Given the description of an element on the screen output the (x, y) to click on. 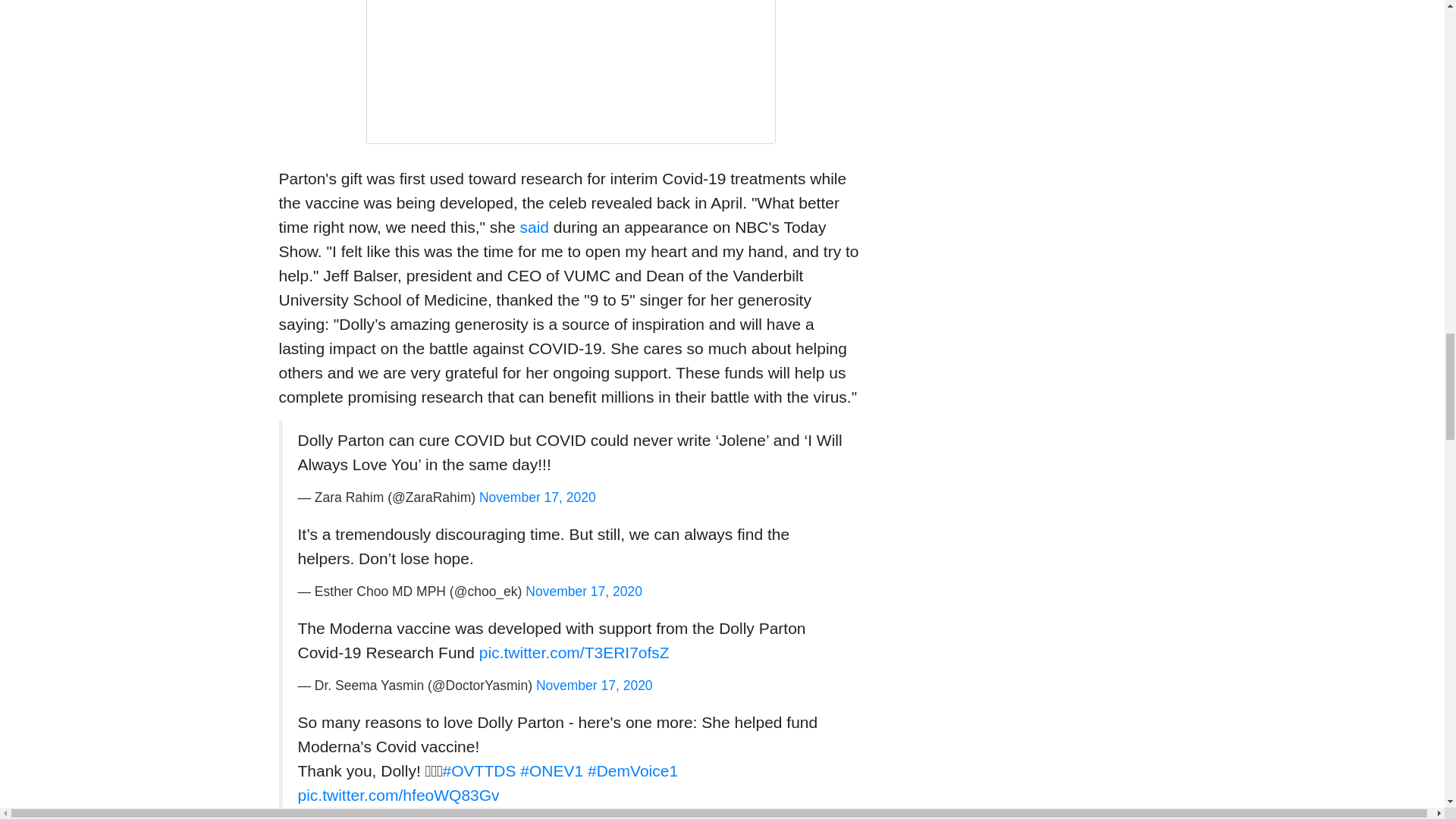
November 17, 2020 (537, 497)
November 17, 2020 (593, 685)
said (533, 226)
November 17, 2020 (583, 590)
